Given the description of an element on the screen output the (x, y) to click on. 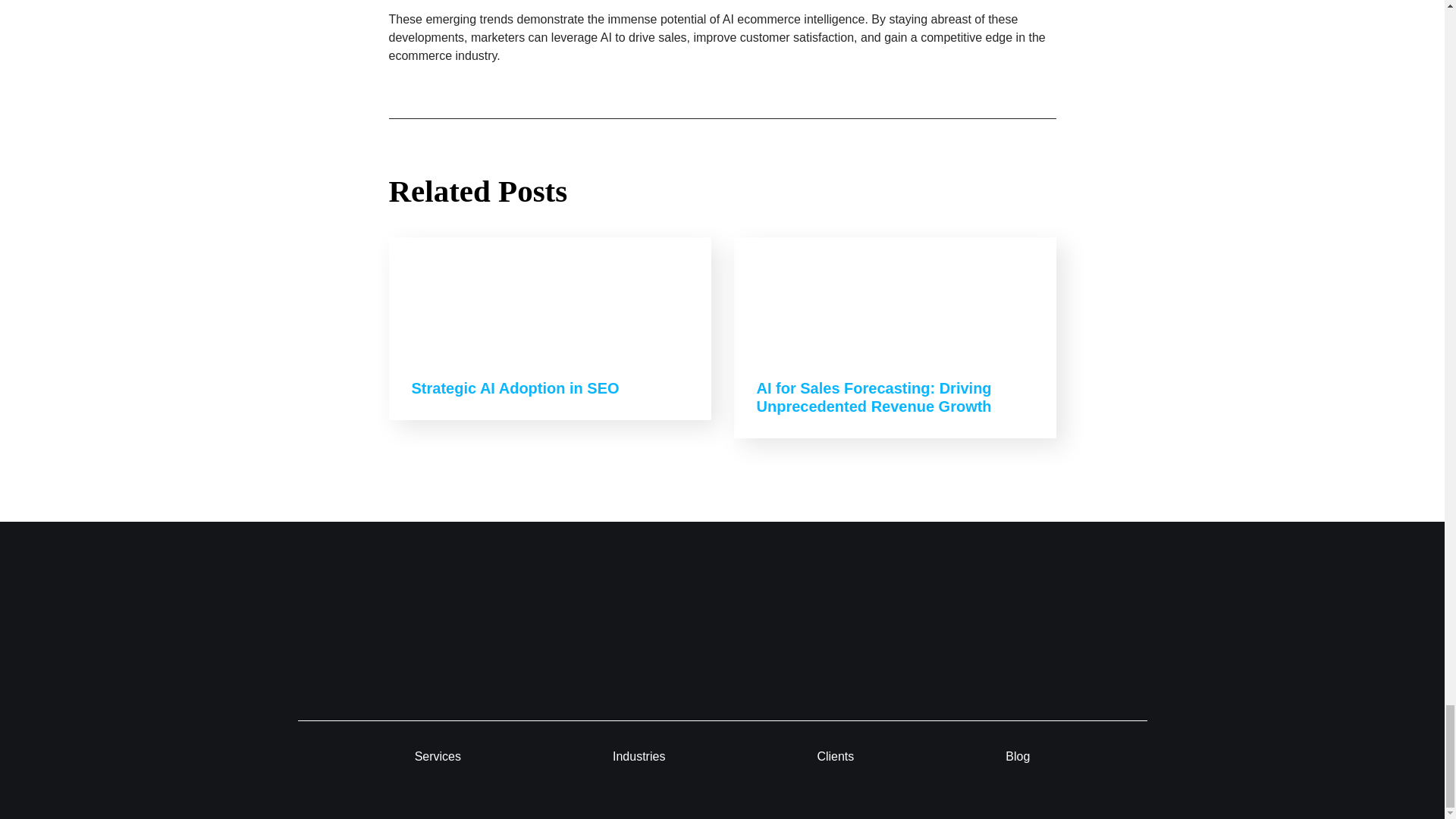
Clients (834, 756)
Services (437, 756)
Industries (638, 756)
Strategic AI Adoption in SEO (514, 388)
